Given the description of an element on the screen output the (x, y) to click on. 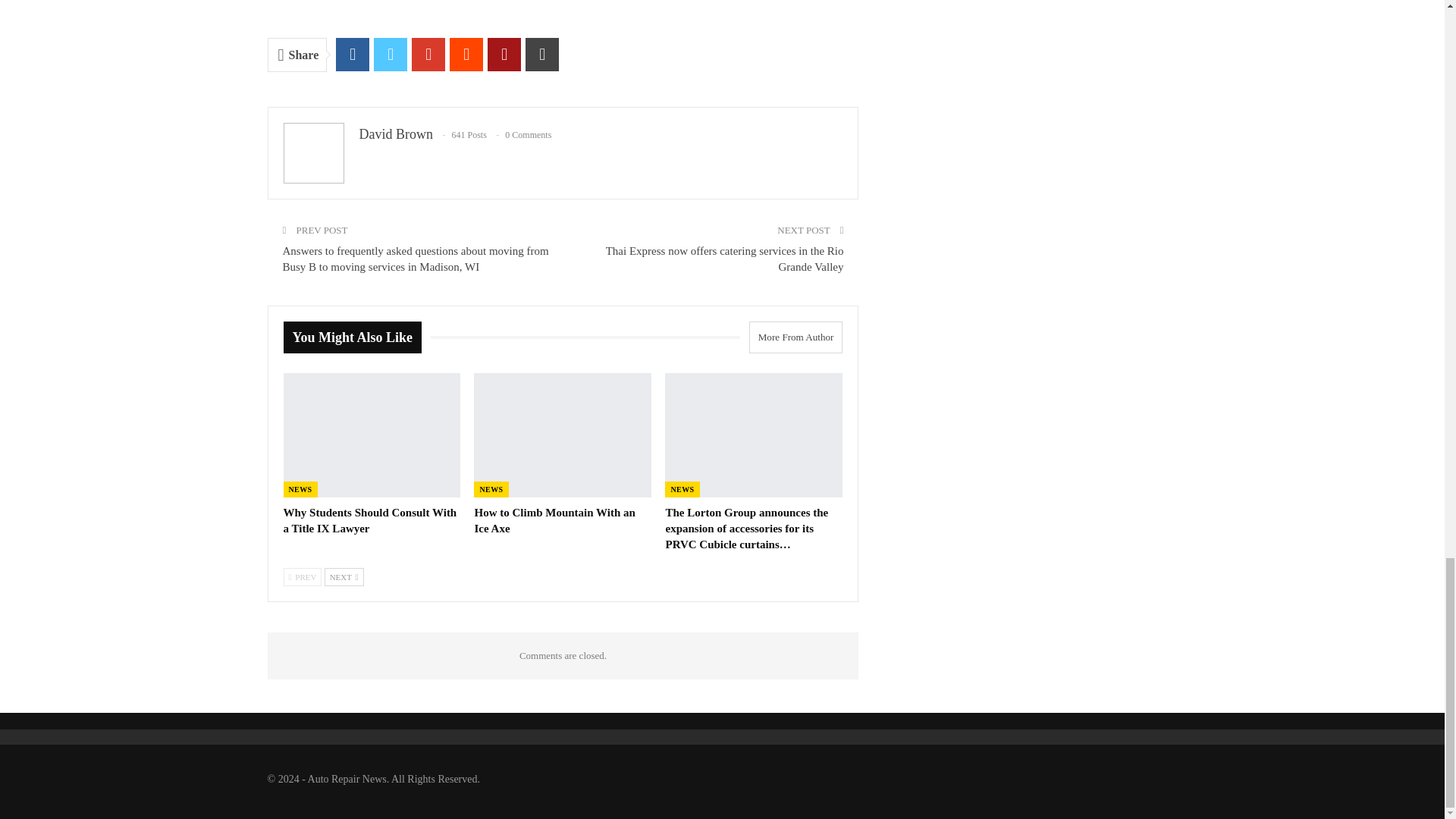
Why Students Should Consult With a Title IX Lawyer (370, 520)
Why Students Should Consult With a Title IX Lawyer (372, 435)
How to Climb Mountain With an Ice Axe (554, 520)
Previous (302, 577)
How to Climb Mountain With an Ice Axe (562, 435)
Next (344, 577)
